Given the description of an element on the screen output the (x, y) to click on. 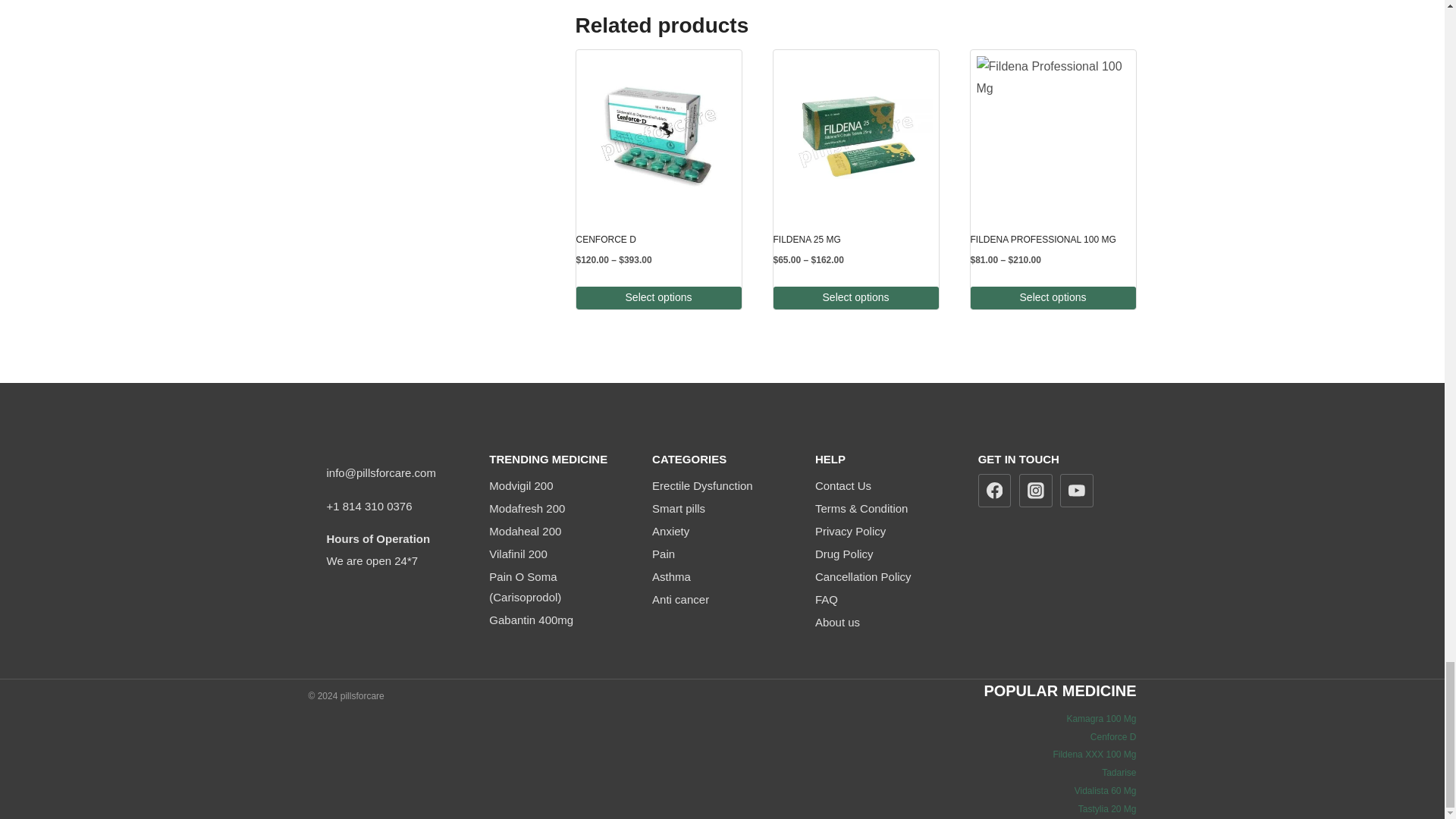
CENFORCE D (658, 239)
Select options (658, 298)
